Given the description of an element on the screen output the (x, y) to click on. 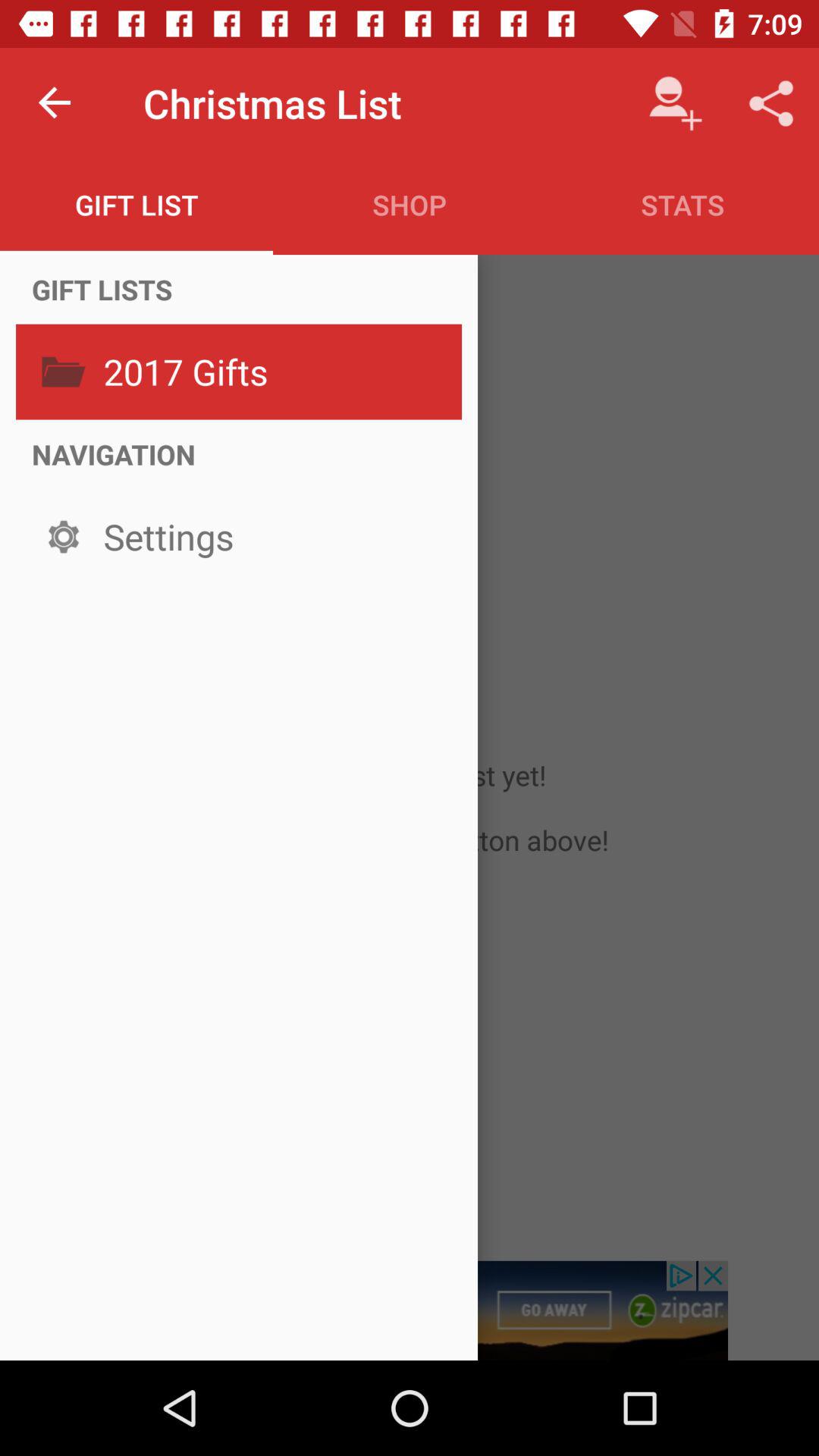
choose item next to the shop item (675, 103)
